Given the description of an element on the screen output the (x, y) to click on. 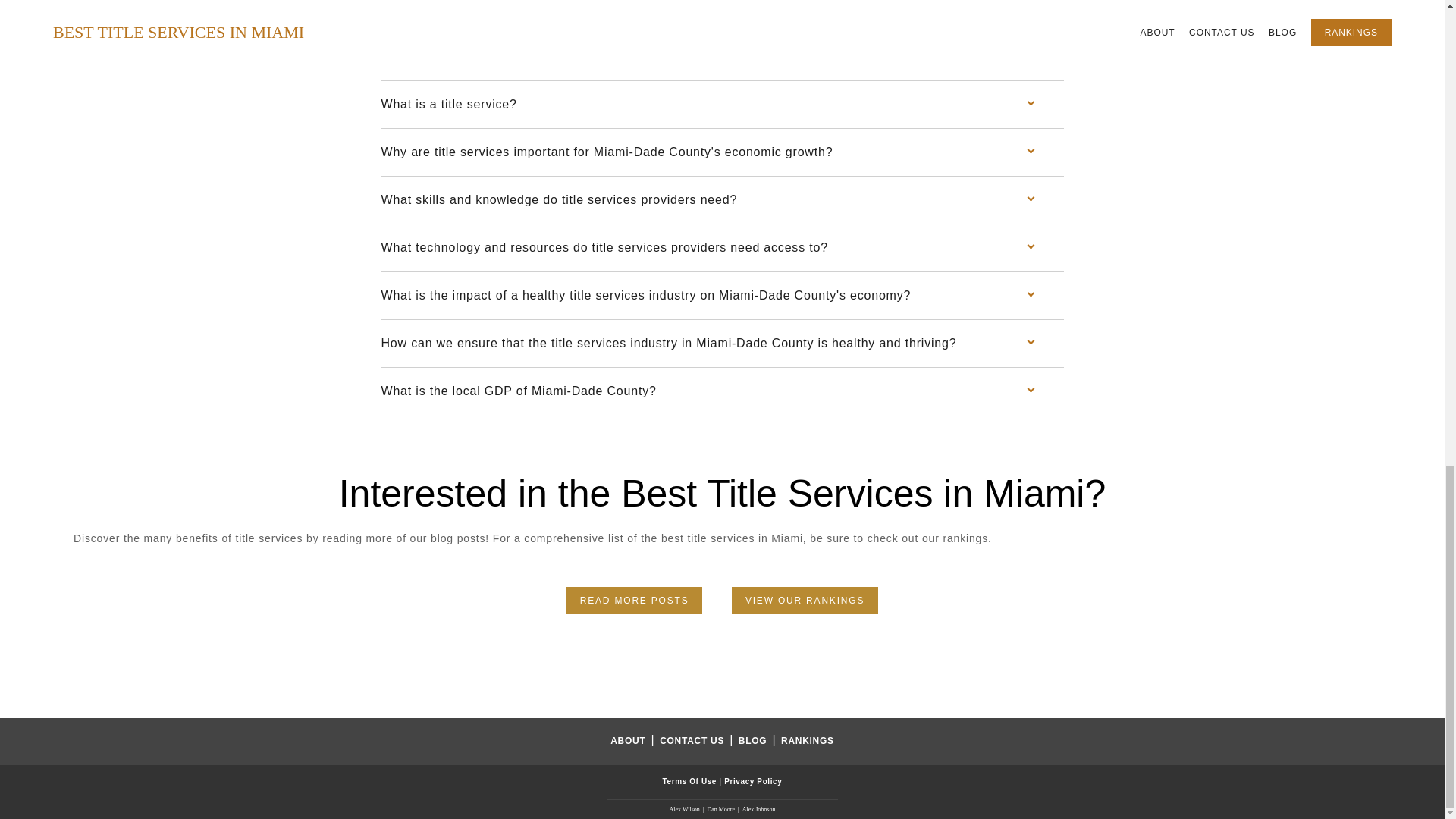
READ MORE POSTS (634, 600)
RANKINGS (807, 740)
Alex Wilson (684, 809)
Dan Moore (720, 809)
BLOG (754, 740)
CONTACT US (692, 740)
Terms Of Use (690, 781)
VIEW OUR RANKINGS (804, 600)
Privacy Policy (752, 781)
Alex Johnson (758, 809)
